Given the description of an element on the screen output the (x, y) to click on. 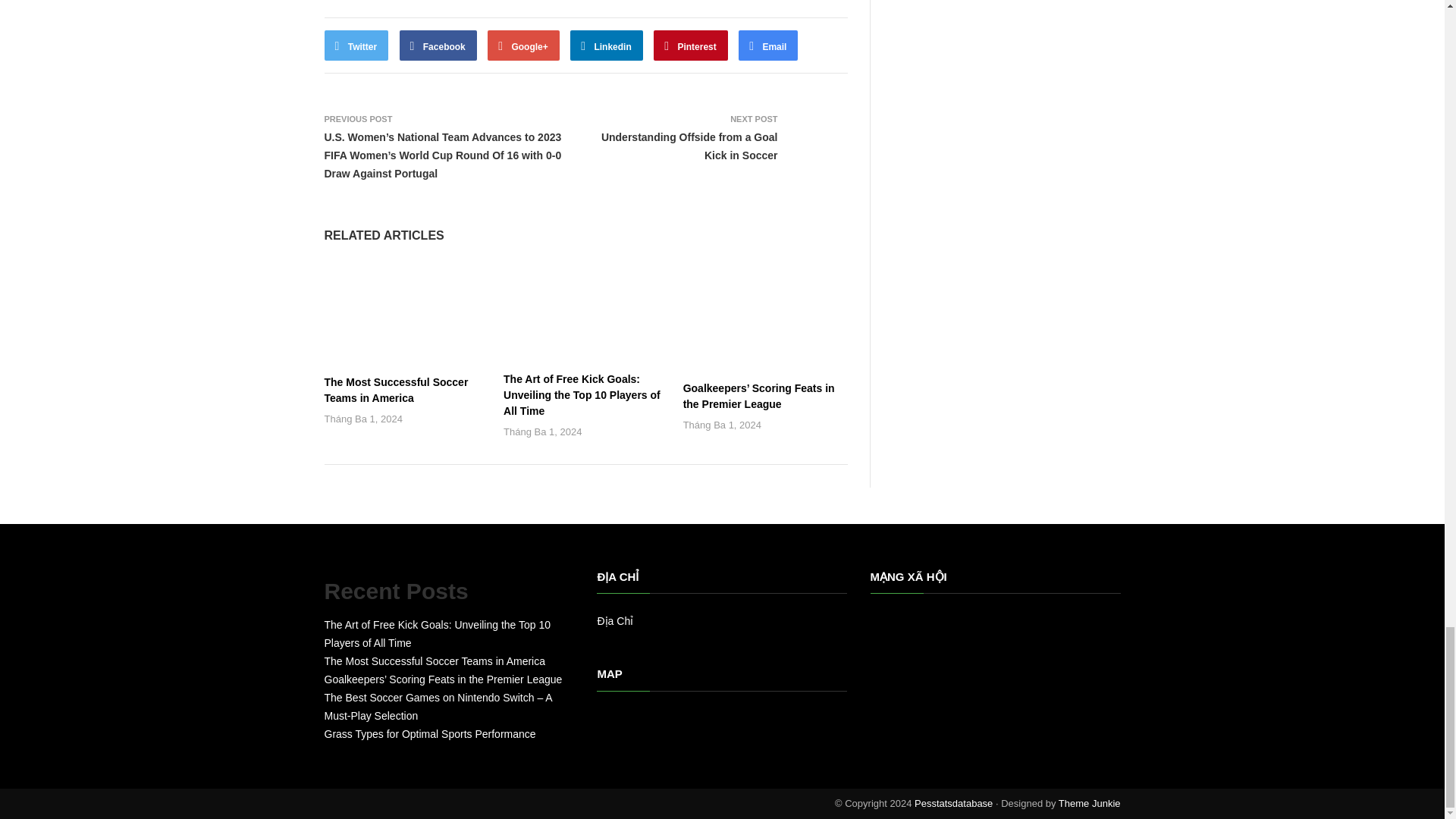
Pinterest (690, 45)
Understanding Offside from a Goal Kick in Soccer (689, 146)
Linkedin (606, 45)
Twitter (356, 45)
Facebook (437, 45)
Email (767, 45)
